Given the description of an element on the screen output the (x, y) to click on. 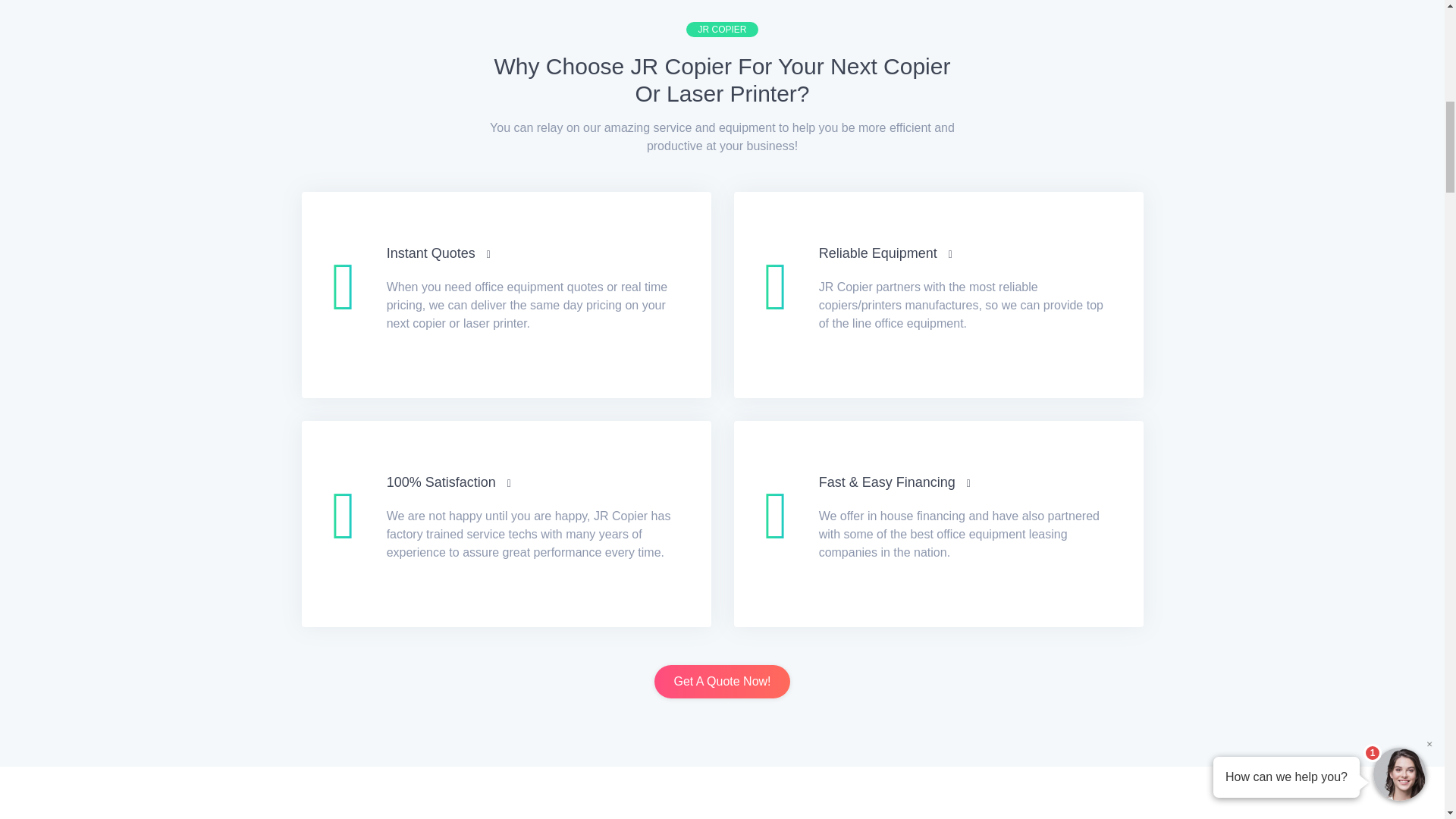
Reliable Equipment (885, 253)
Instant Quotes (438, 253)
Get A Quote Now! (721, 681)
